Given the description of an element on the screen output the (x, y) to click on. 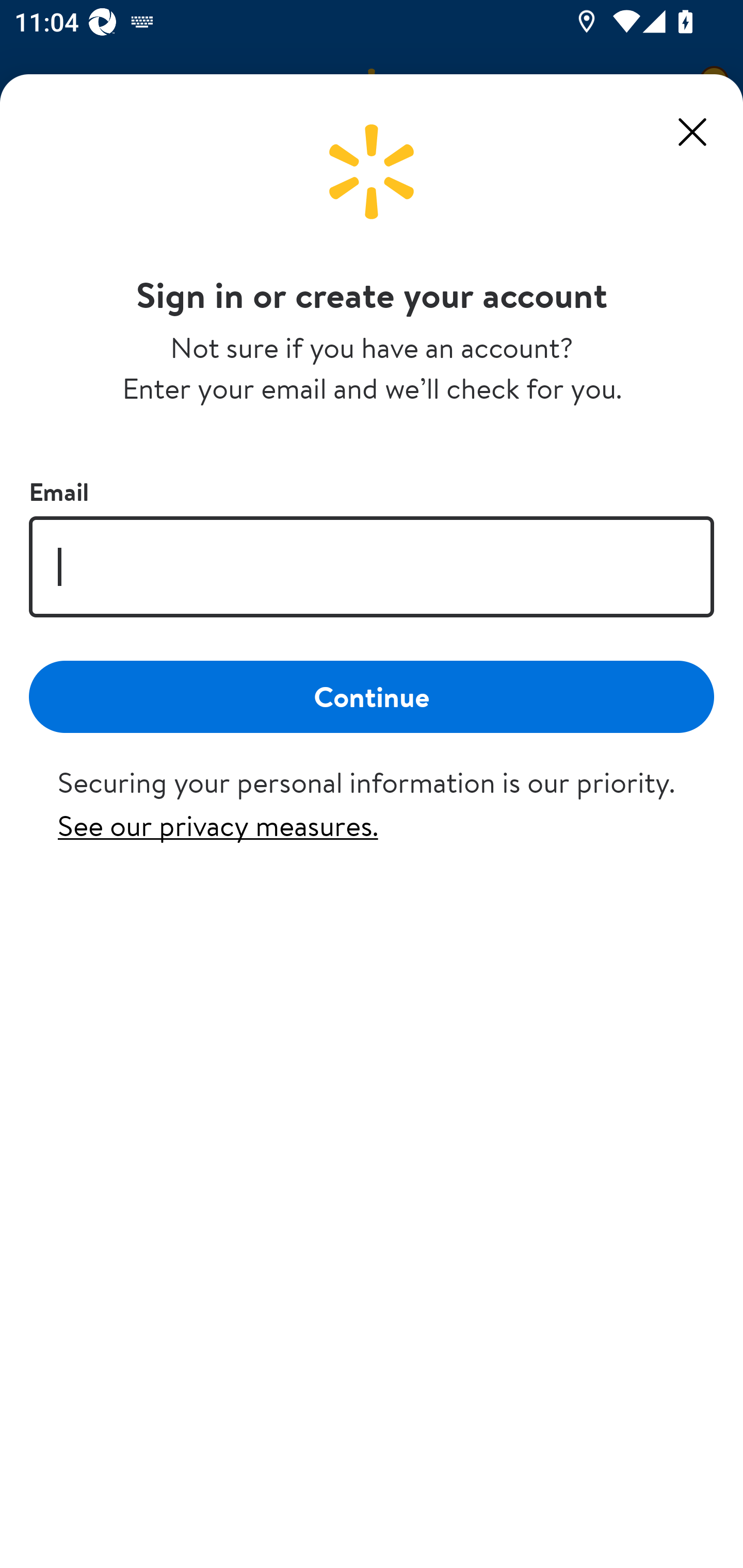
Close (692, 131)
Email (371, 566)
Continue (371, 696)
